Given the description of an element on the screen output the (x, y) to click on. 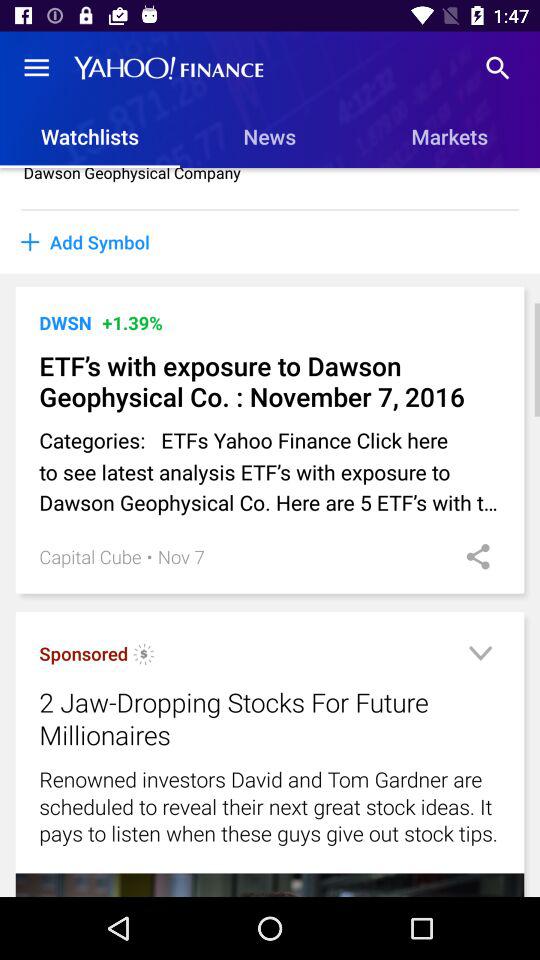
show more (480, 656)
